Given the description of an element on the screen output the (x, y) to click on. 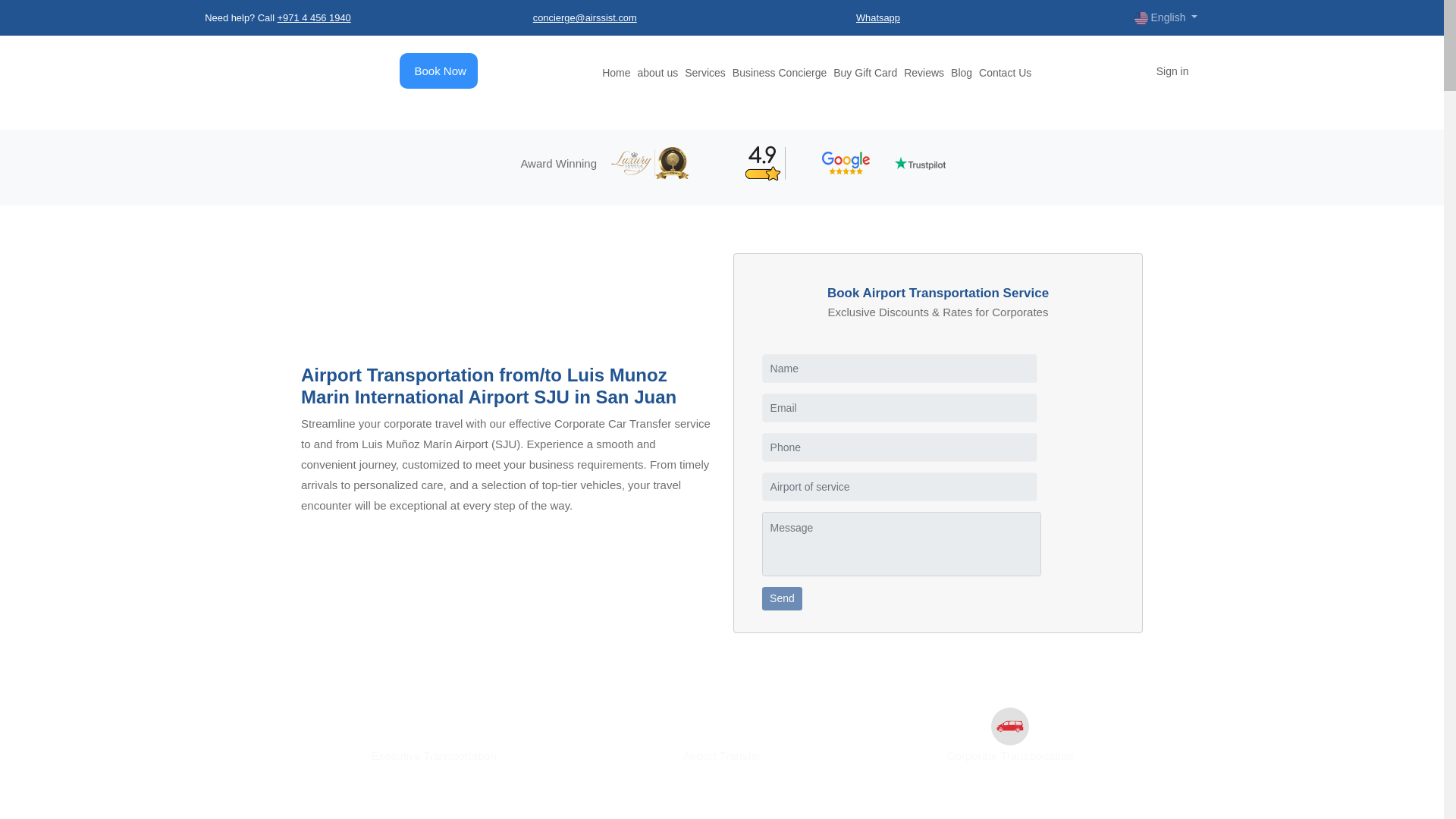
Reviews (923, 72)
Business Concierge (779, 72)
English (1166, 17)
Blog (961, 72)
Services (704, 72)
Buy Gift Card (864, 72)
Contact Us (1004, 72)
Send (782, 598)
Whatsapp (877, 17)
Book Now (439, 70)
Home (616, 72)
about us (657, 72)
